Given the description of an element on the screen output the (x, y) to click on. 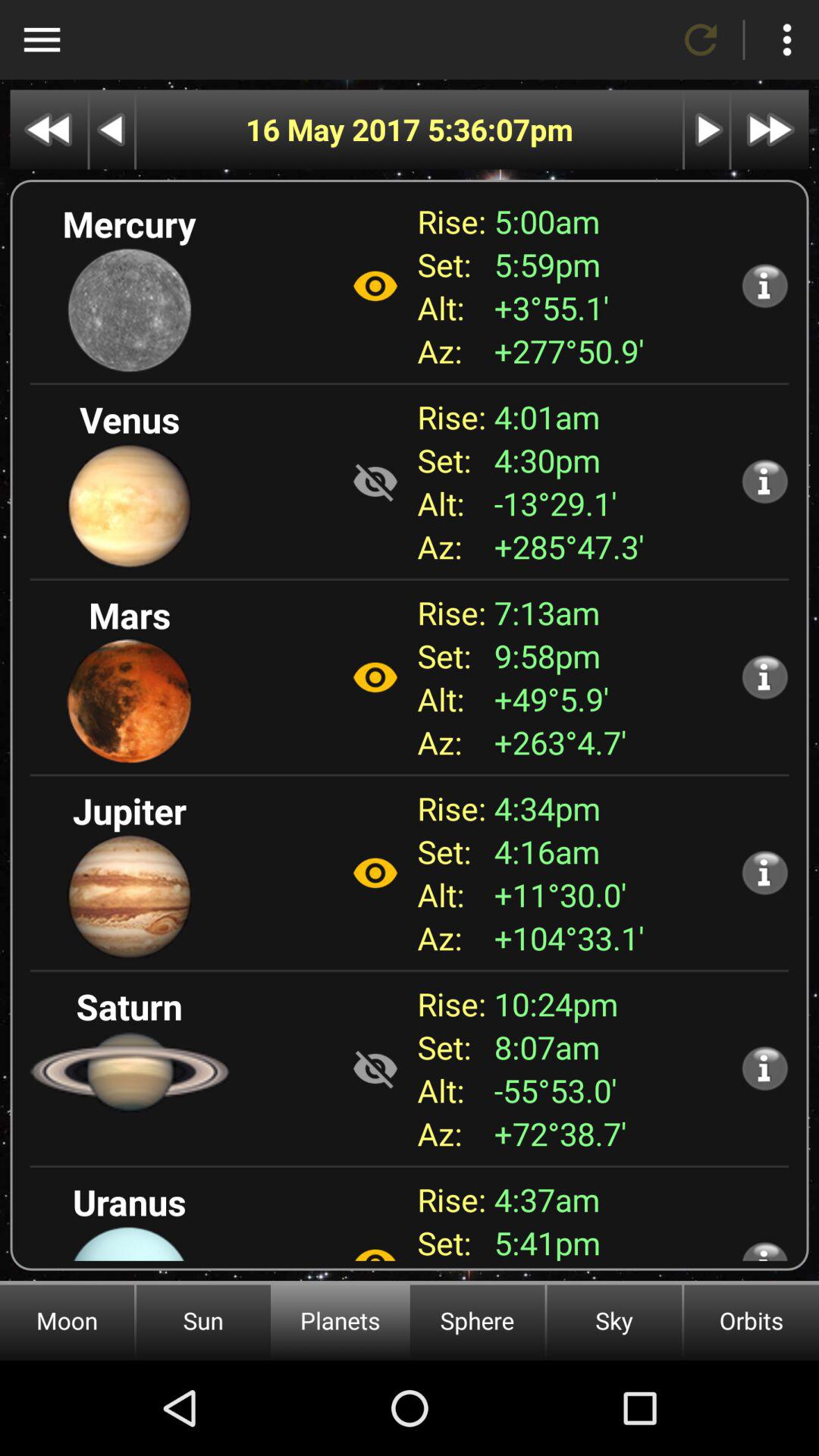
visibility on (375, 285)
